Given the description of an element on the screen output the (x, y) to click on. 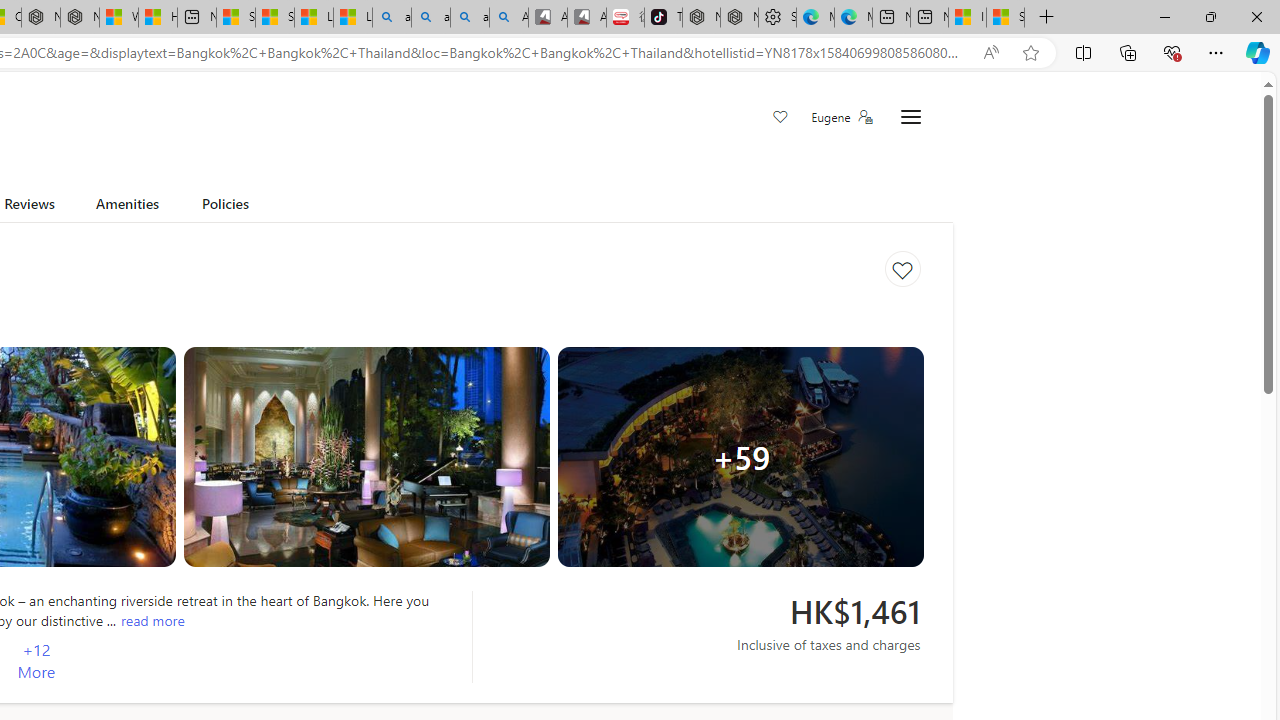
Collections (1128, 52)
Nordace Siena Pro 15 Backpack (738, 17)
Settings and more (Alt+F) (1215, 52)
Save (780, 118)
Settings (910, 118)
Read aloud this page (Ctrl+Shift+U) (991, 53)
All Cubot phones (586, 17)
Close (1256, 16)
New tab (929, 17)
New Tab (1046, 17)
Eugene (841, 117)
Hotel room image (366, 457)
read more (152, 620)
